Given the description of an element on the screen output the (x, y) to click on. 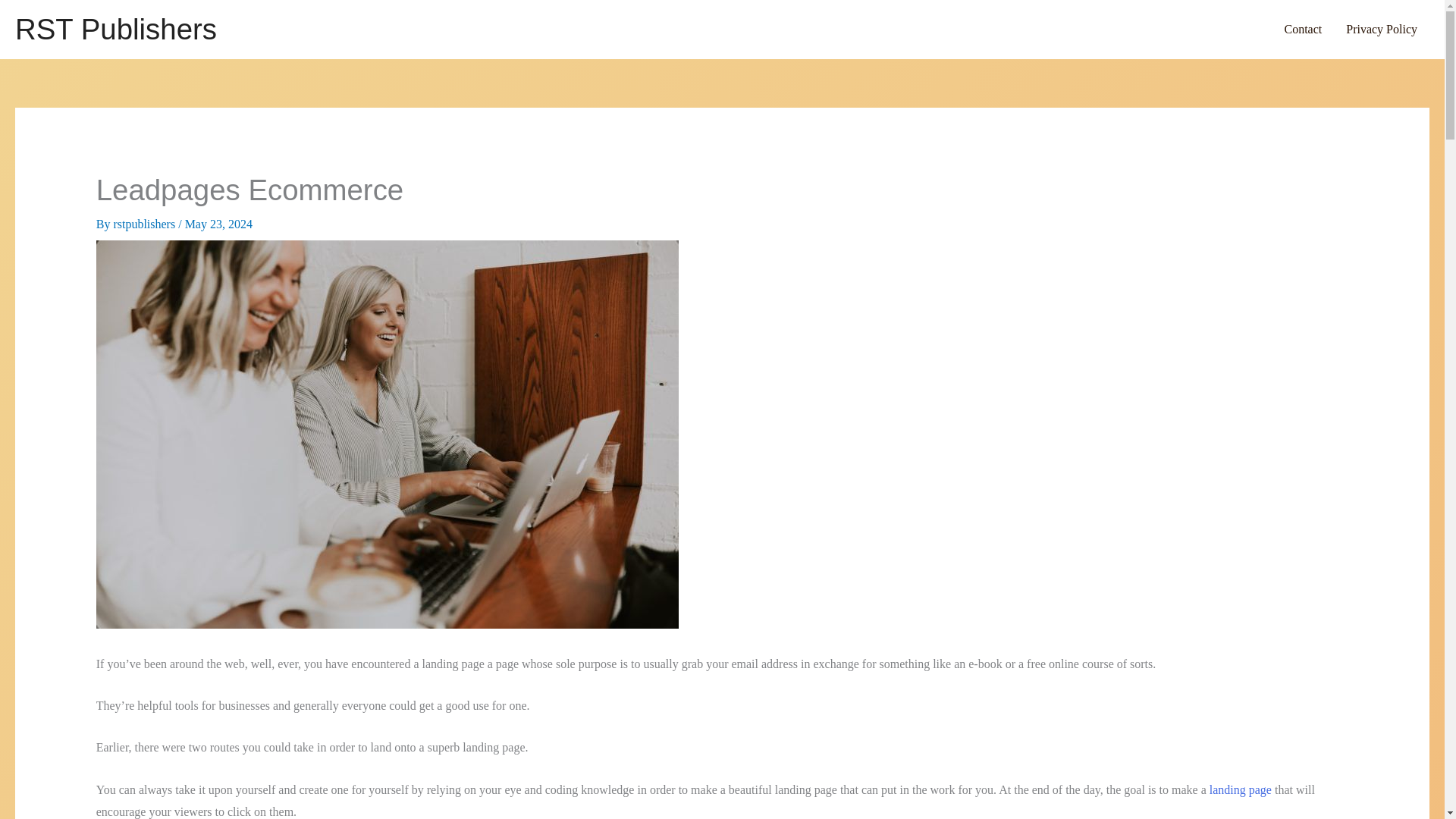
View all posts by rstpublishers (145, 223)
RST Publishers (115, 29)
Contact (1302, 29)
rstpublishers (145, 223)
Privacy Policy (1381, 29)
landing page (1240, 789)
